Given the description of an element on the screen output the (x, y) to click on. 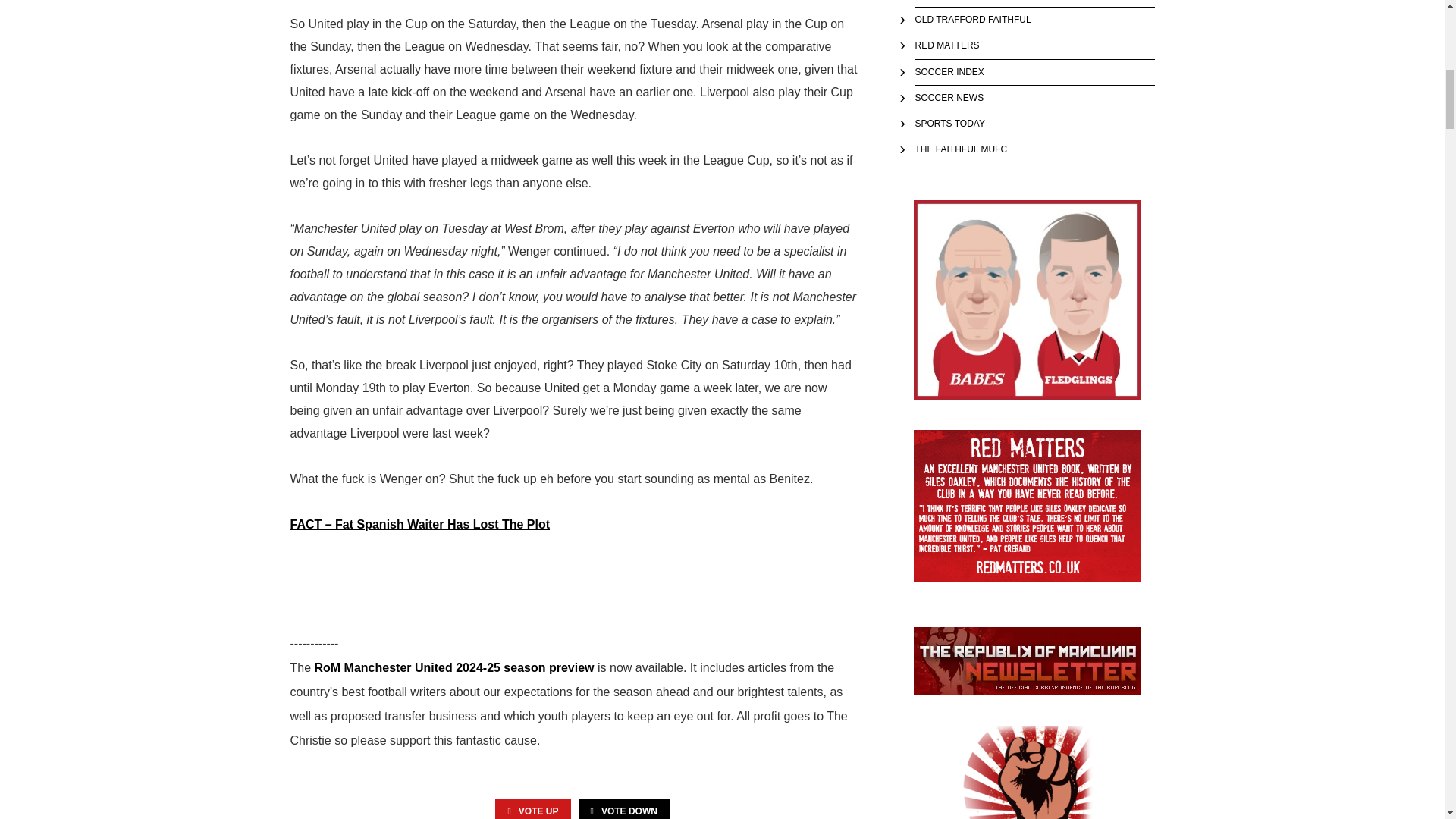
VOTE DOWN (623, 808)
RoM Manchester United 2024-25 season preview (454, 667)
VOTE UP (532, 808)
